Given the description of an element on the screen output the (x, y) to click on. 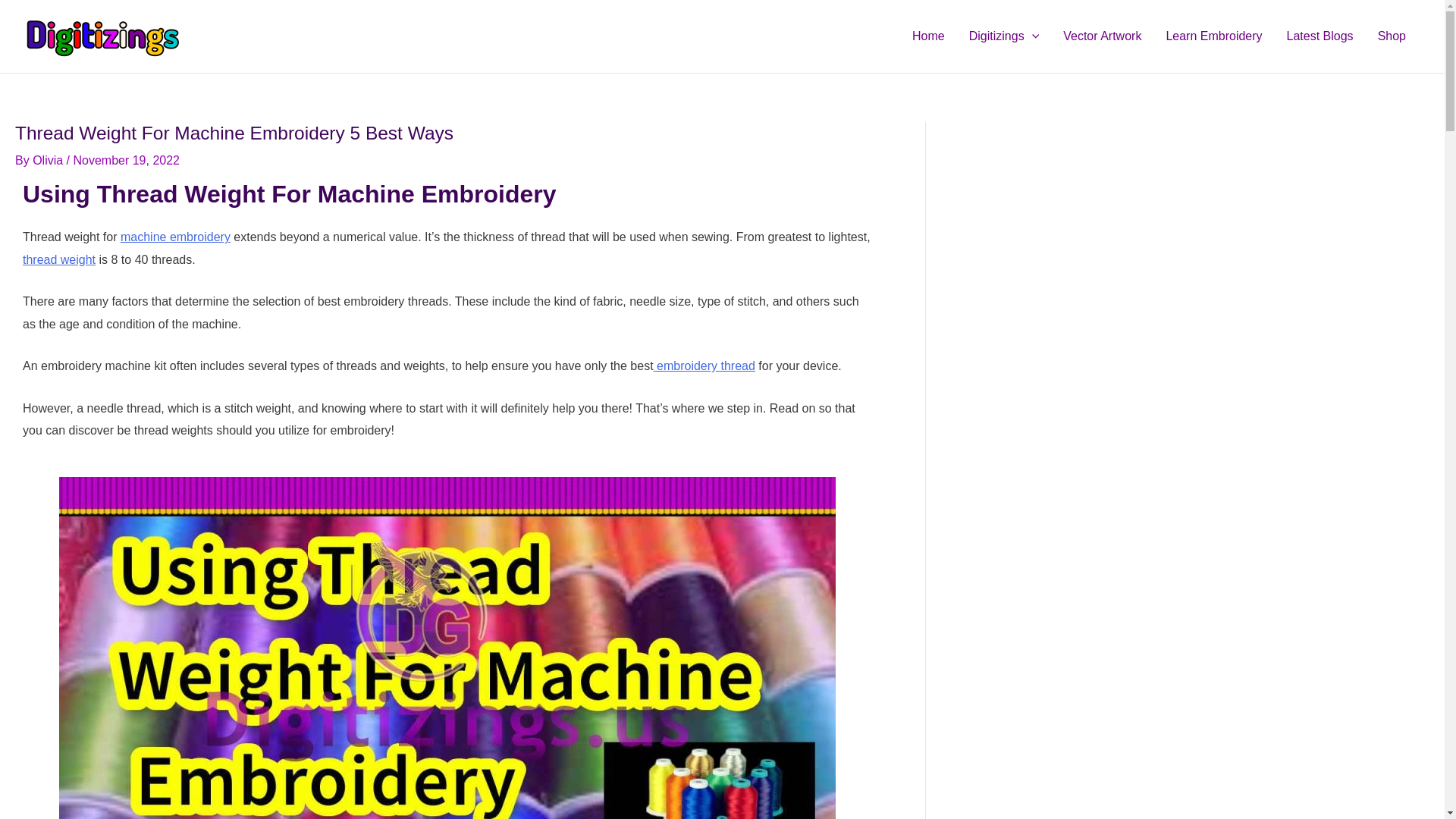
embroidery thread (704, 365)
thread weight (59, 259)
View all posts by Olivia (48, 160)
Home (927, 36)
Learn Embroidery (1213, 36)
machine embroidery (175, 236)
Vector Artwork (1102, 36)
Olivia (48, 160)
Shop (1391, 36)
Digitizings (1003, 36)
Latest Blogs (1320, 36)
